Given the description of an element on the screen output the (x, y) to click on. 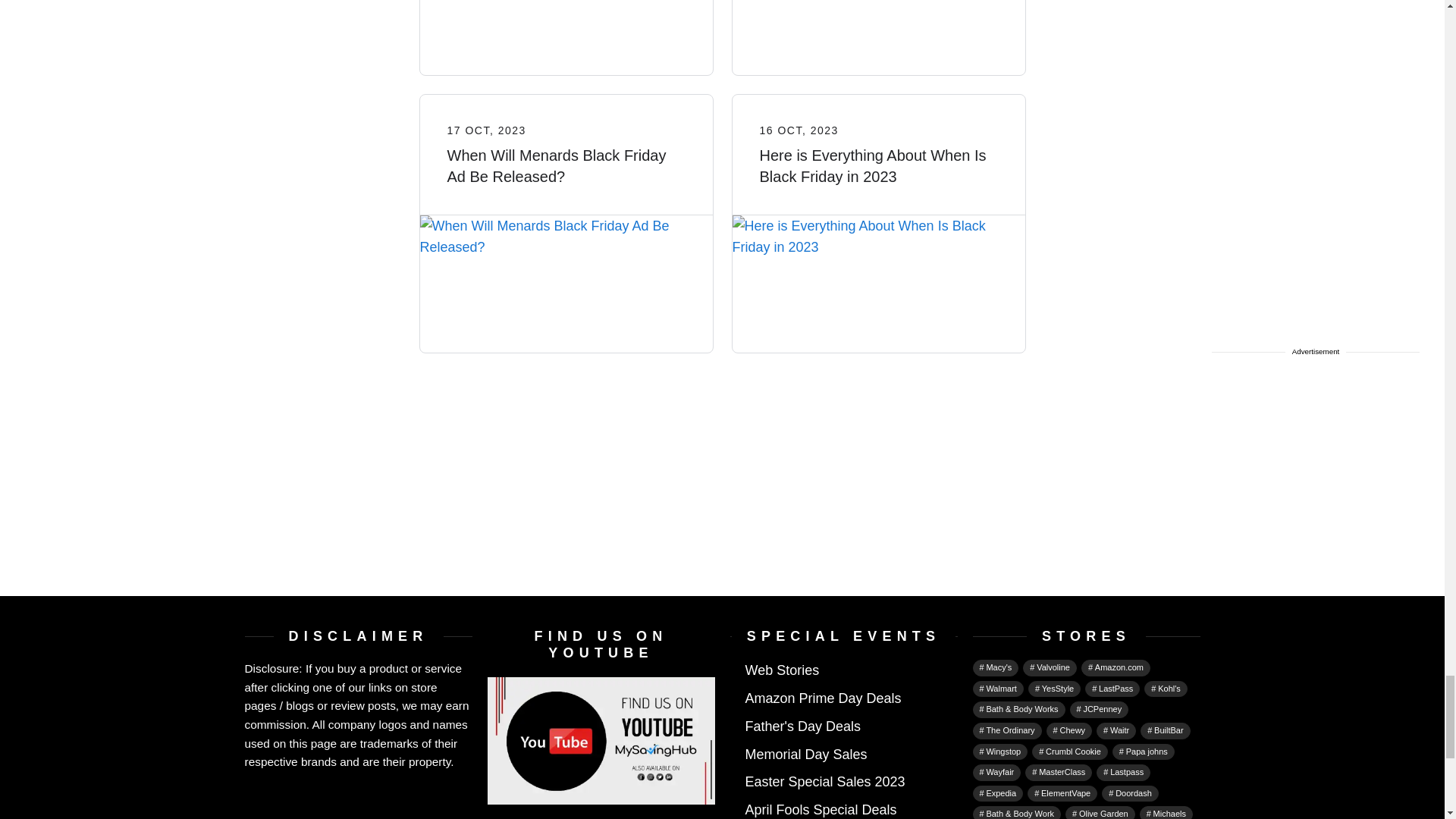
Visit YouTube channel (600, 739)
